Given the description of an element on the screen output the (x, y) to click on. 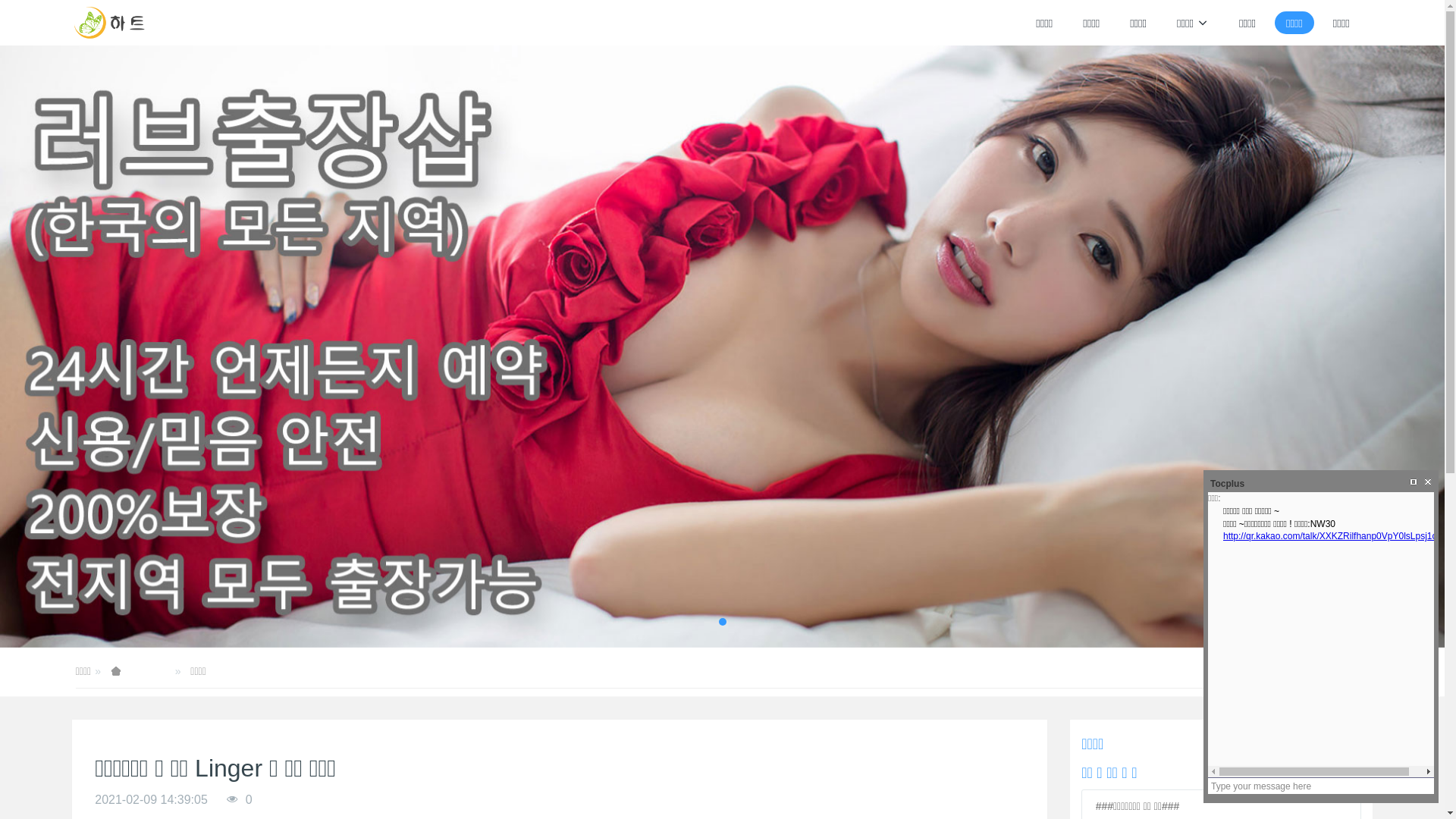
Tocplus Element type: text (1225, 483)
